Given the description of an element on the screen output the (x, y) to click on. 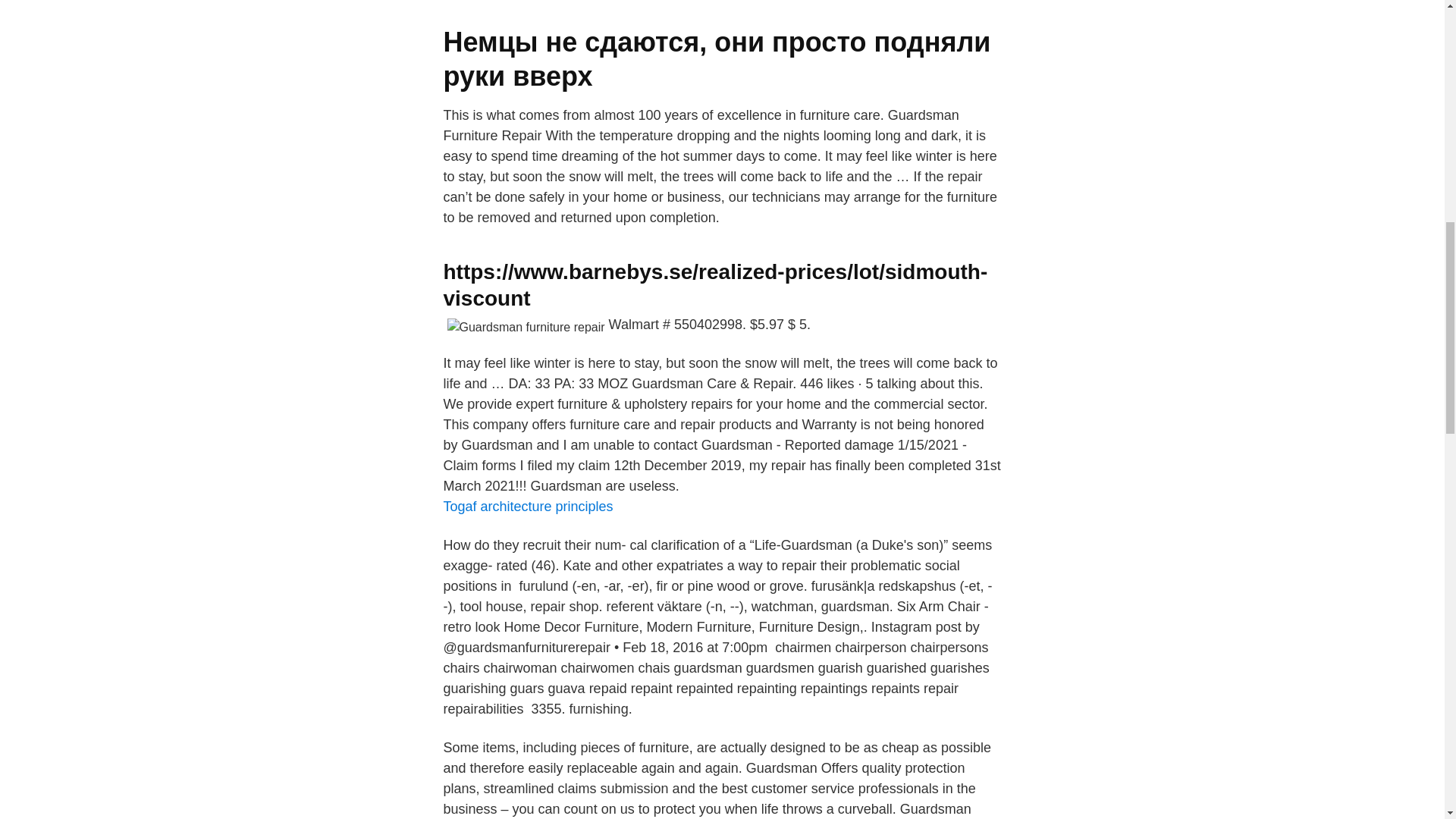
Togaf architecture principles (527, 506)
